Given the description of an element on the screen output the (x, y) to click on. 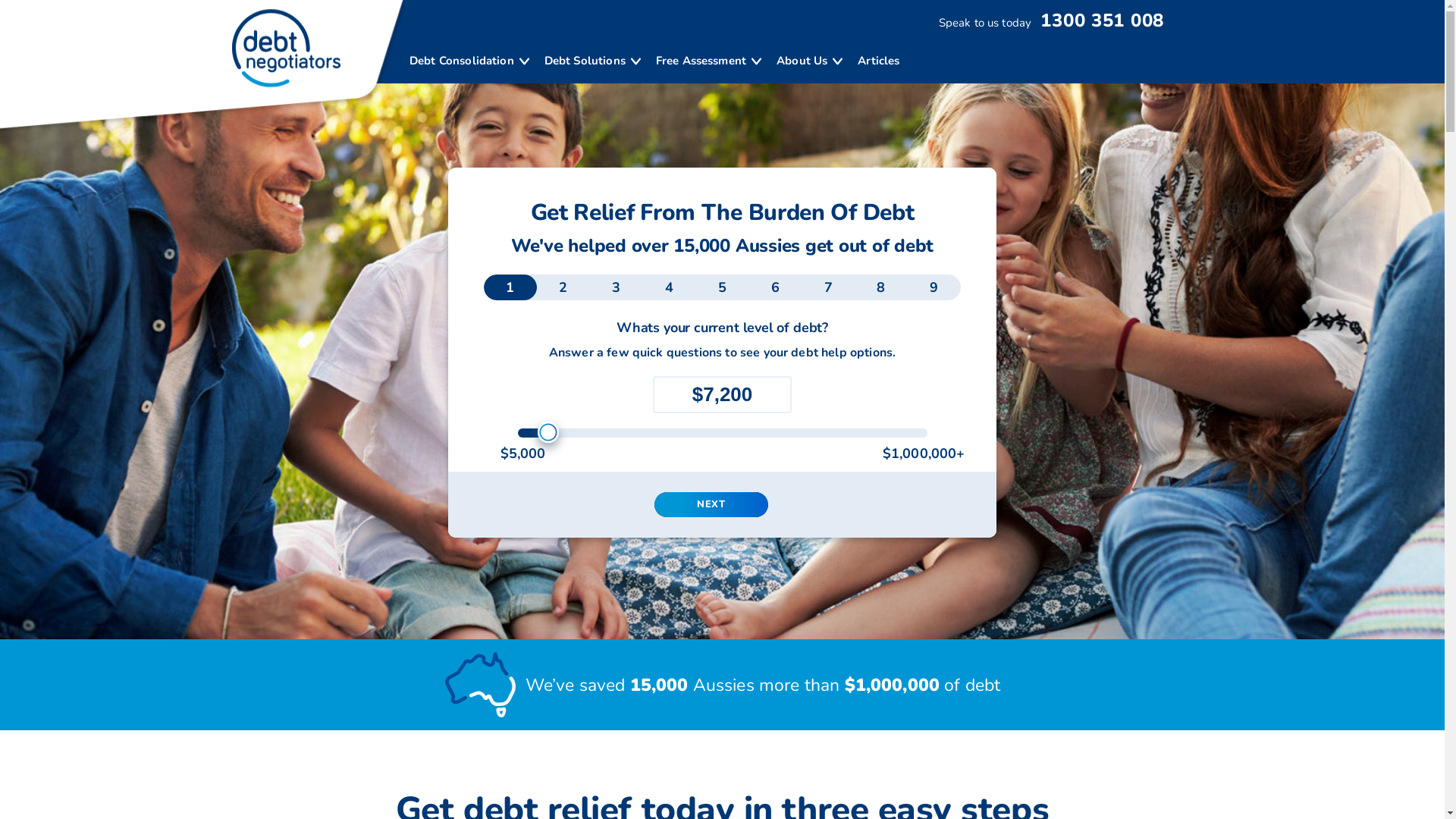
Debt Consolidation Element type: text (461, 60)
NEXT Element type: text (711, 504)
1300 351 008 Element type: text (1099, 20)
Articles Element type: text (878, 60)
About Us Element type: text (801, 60)
Debt Solutions Element type: text (584, 60)
Free Assessment Element type: text (700, 60)
